Given the description of an element on the screen output the (x, y) to click on. 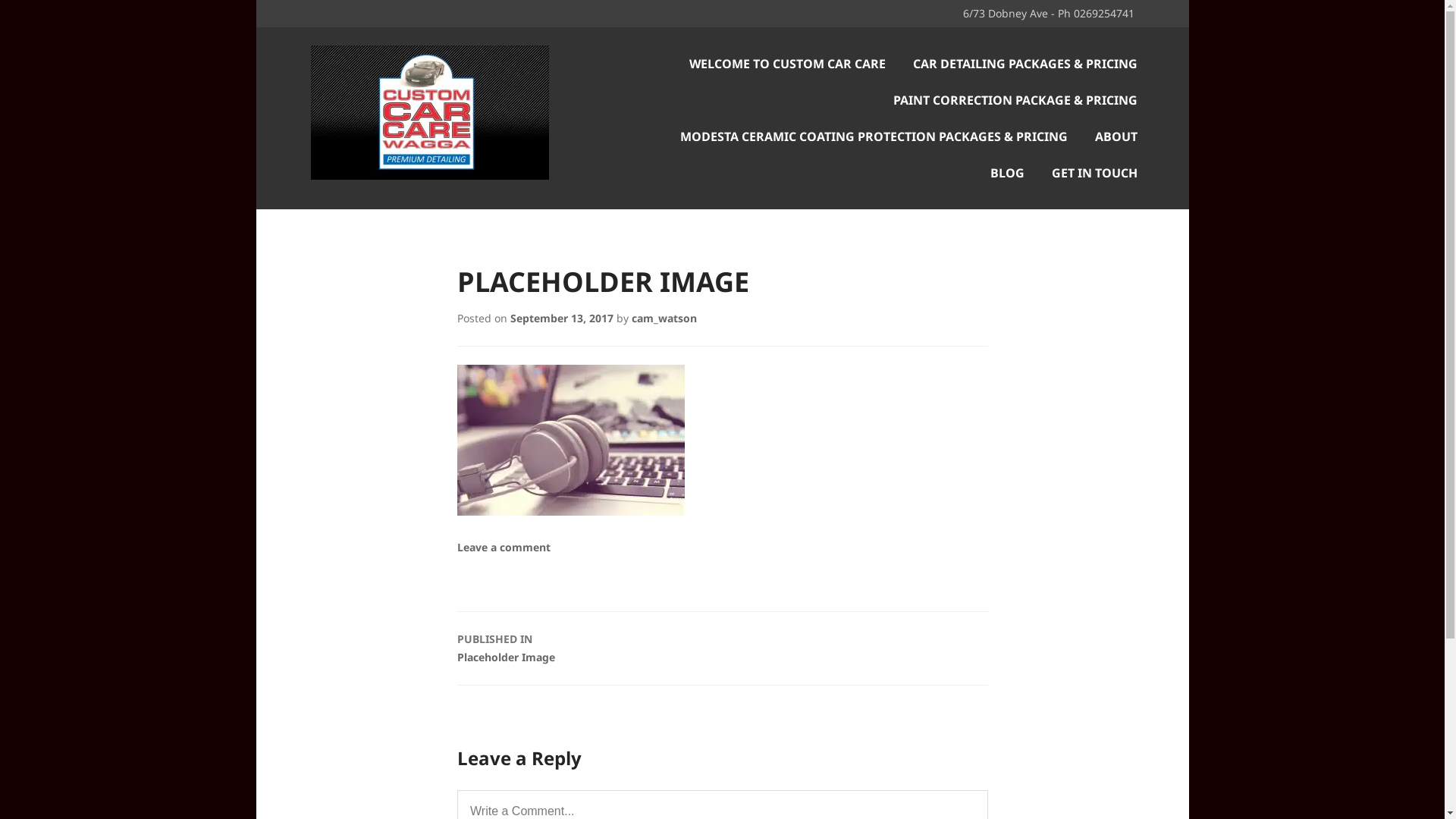
MODESTA CERAMIC COATING PROTECTION PACKAGES & PRICING Element type: text (872, 136)
CAR DETAILING PACKAGES & PRICING Element type: text (1025, 63)
September 13, 2017 Element type: text (560, 317)
PAINT CORRECTION PACKAGE & PRICING Element type: text (1015, 99)
BLOG Element type: text (1007, 172)
Custom Car Care Wagga Element type: text (473, 233)
WELCOME TO CUSTOM CAR CARE Element type: text (786, 63)
Leave a comment Element type: text (502, 546)
GET IN TOUCH Element type: text (1093, 172)
ABOUT Element type: text (1116, 136)
PUBLISHED IN
Placeholder Image Element type: text (721, 647)
cam_watson Element type: text (663, 317)
